Given the description of an element on the screen output the (x, y) to click on. 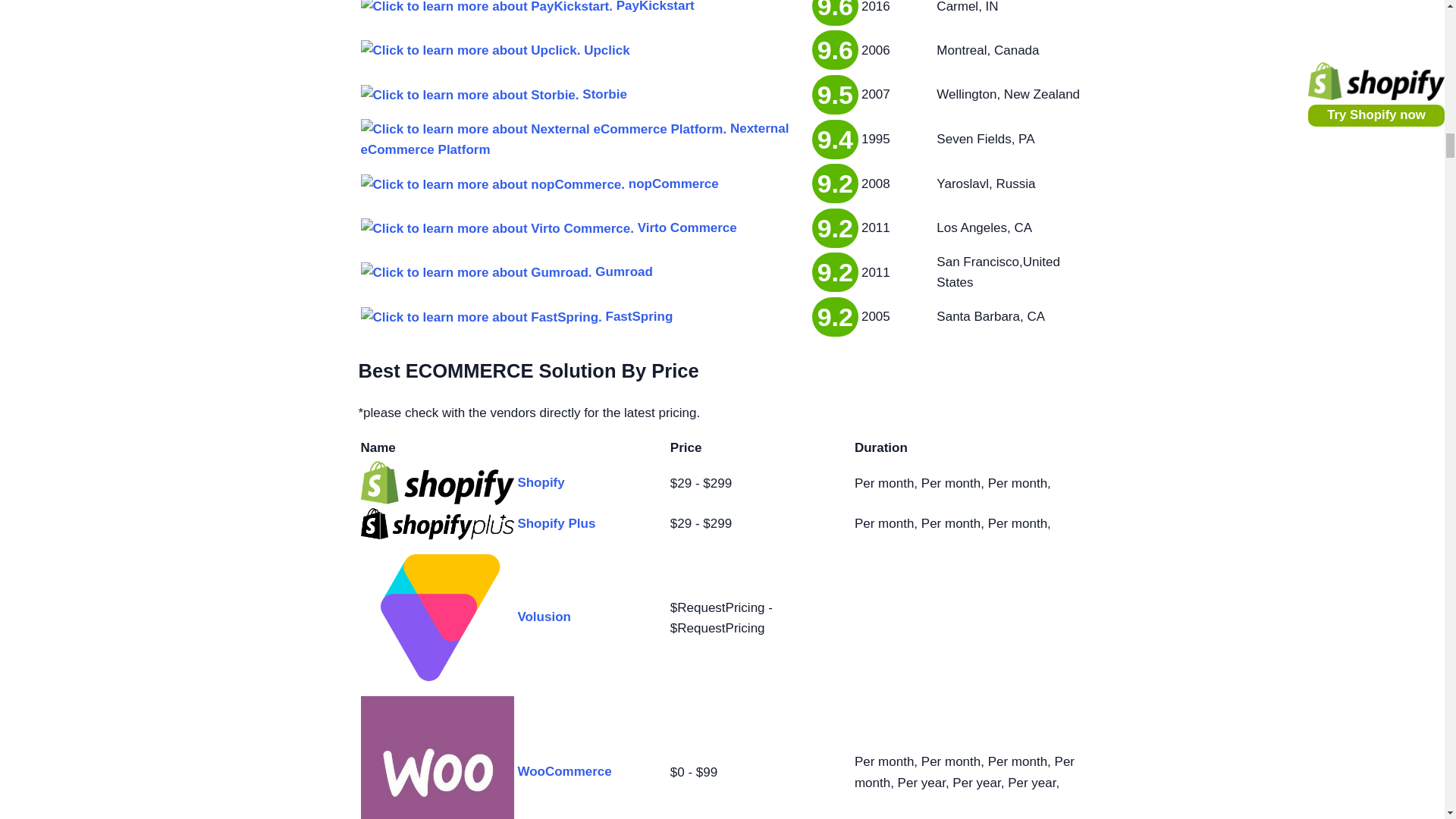
Click to learn more about Virto Commerce (497, 228)
Click to learn more about nopCommerce (493, 184)
Click to learn more about Nexternal eCommerce Platform (543, 128)
Click to learn more about PayKickstart (486, 8)
Click to learn more about Storbie (470, 95)
Click to learn more about Upclick (470, 50)
